Given the description of an element on the screen output the (x, y) to click on. 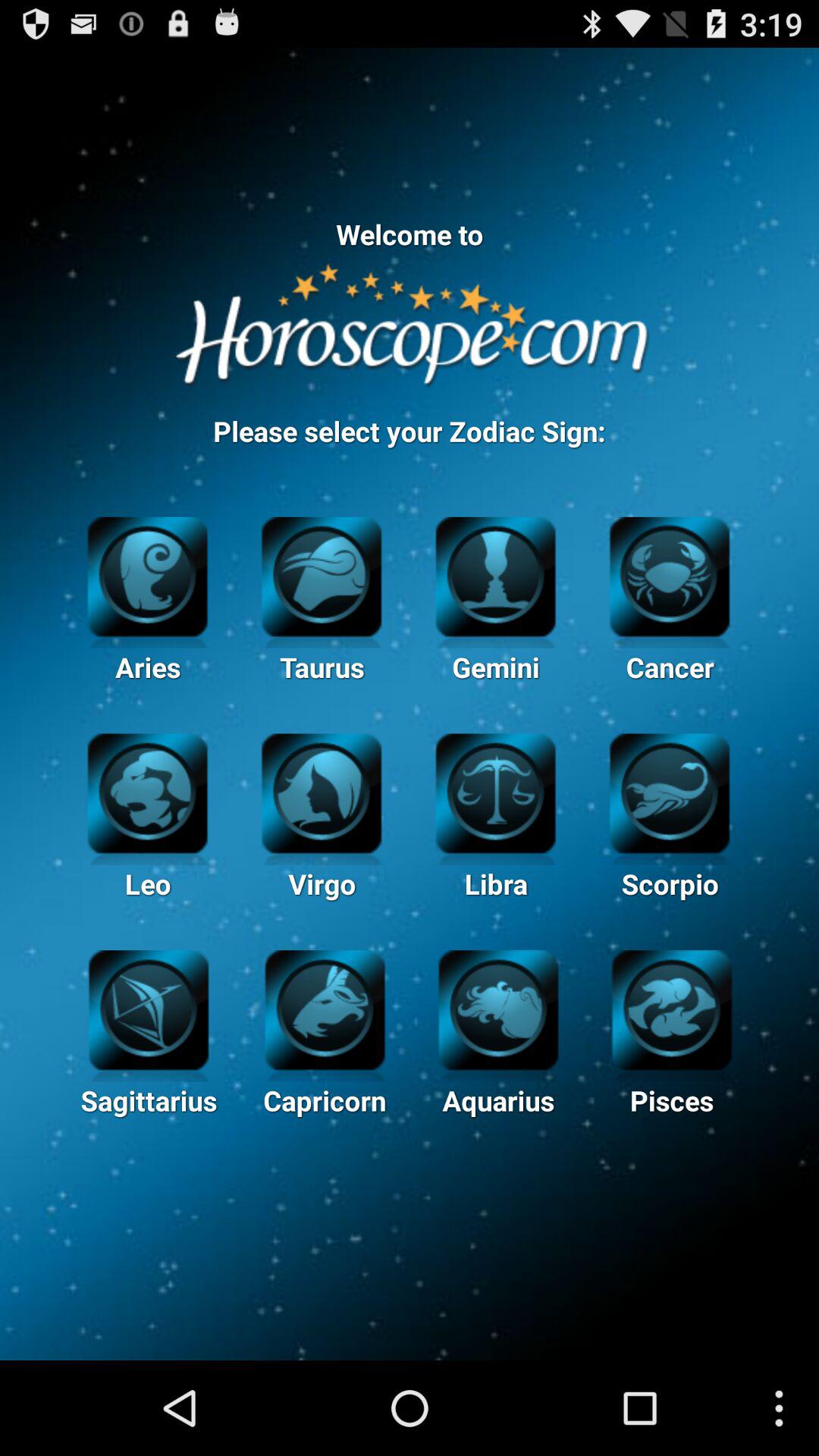
show the details (671, 1007)
